Given the description of an element on the screen output the (x, y) to click on. 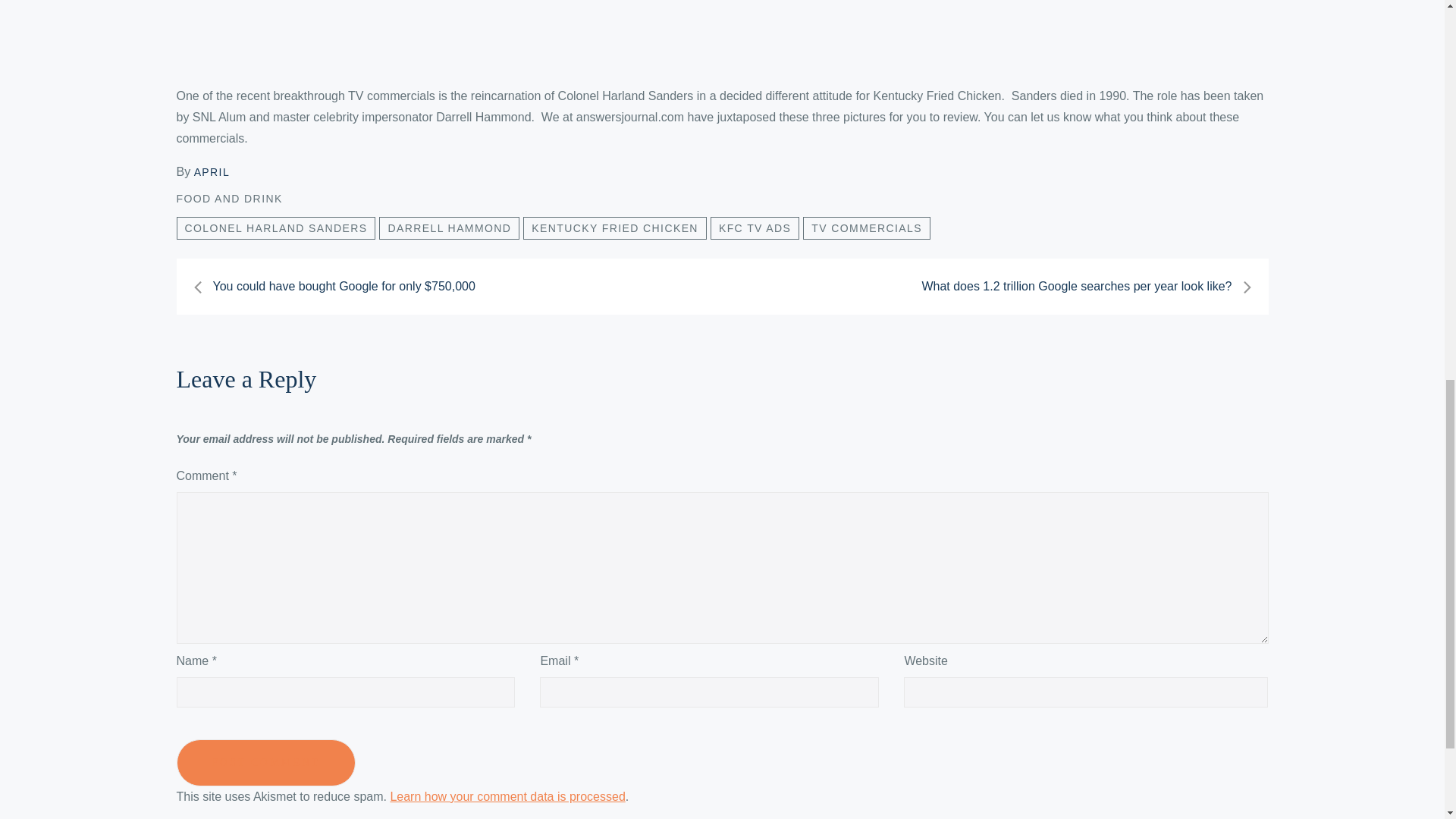
KFC TV ADS (754, 228)
TV COMMERCIALS (866, 228)
Post Comment (265, 762)
Post Comment (265, 762)
FOOD AND DRINK (229, 198)
KENTUCKY FRIED CHICKEN (614, 228)
COLONEL HARLAND SANDERS (275, 228)
APRIL (211, 172)
Learn how your comment data is processed (507, 796)
DARRELL HAMMOND (448, 228)
